Given the description of an element on the screen output the (x, y) to click on. 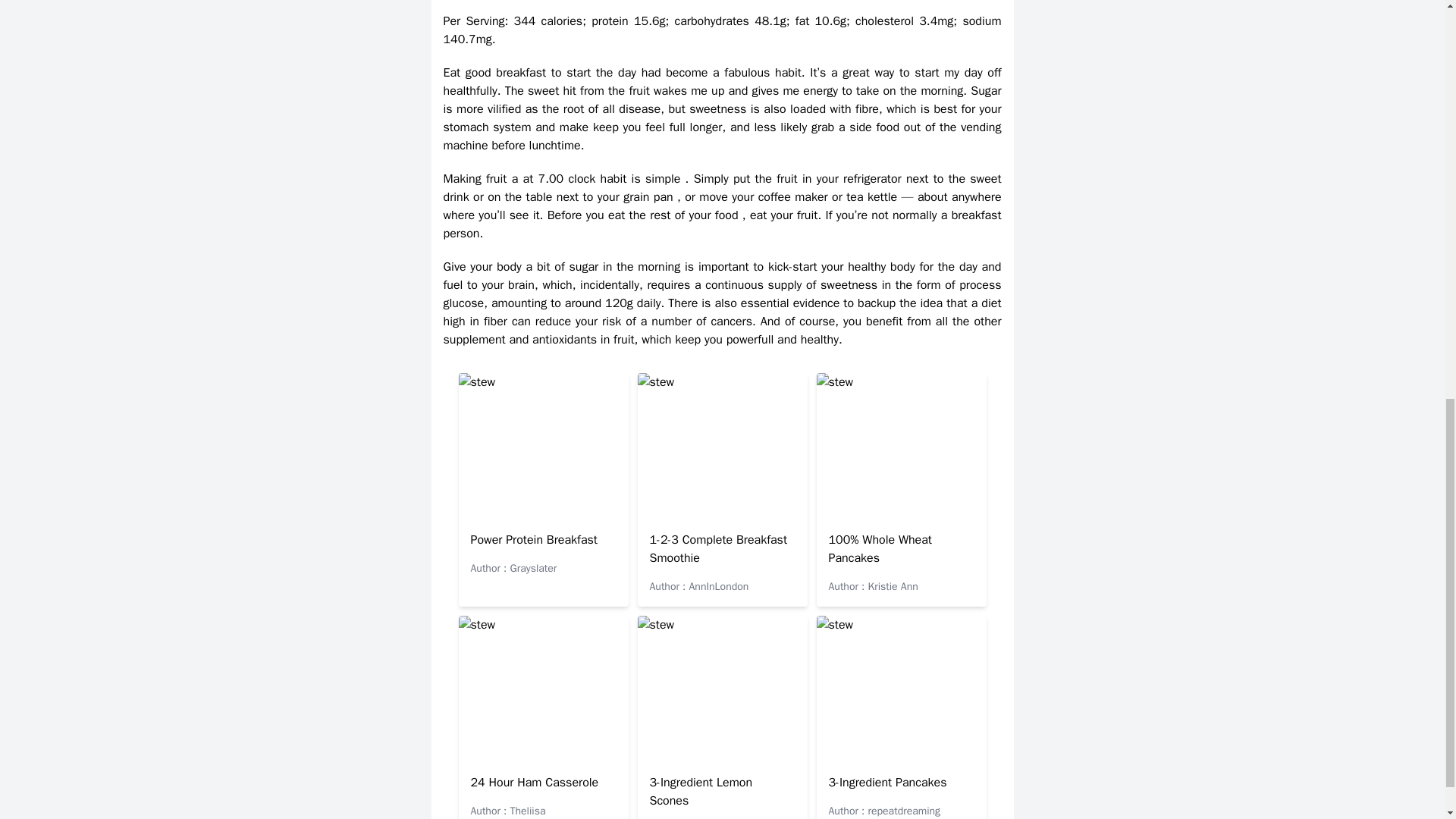
24 Hour Ham Casserole (534, 782)
1-2-3 Complete Breakfast Smoothie (718, 548)
3-Ingredient Pancakes (887, 782)
Power Protein Breakfast (533, 539)
3-Ingredient Lemon Scones (700, 791)
